Given the description of an element on the screen output the (x, y) to click on. 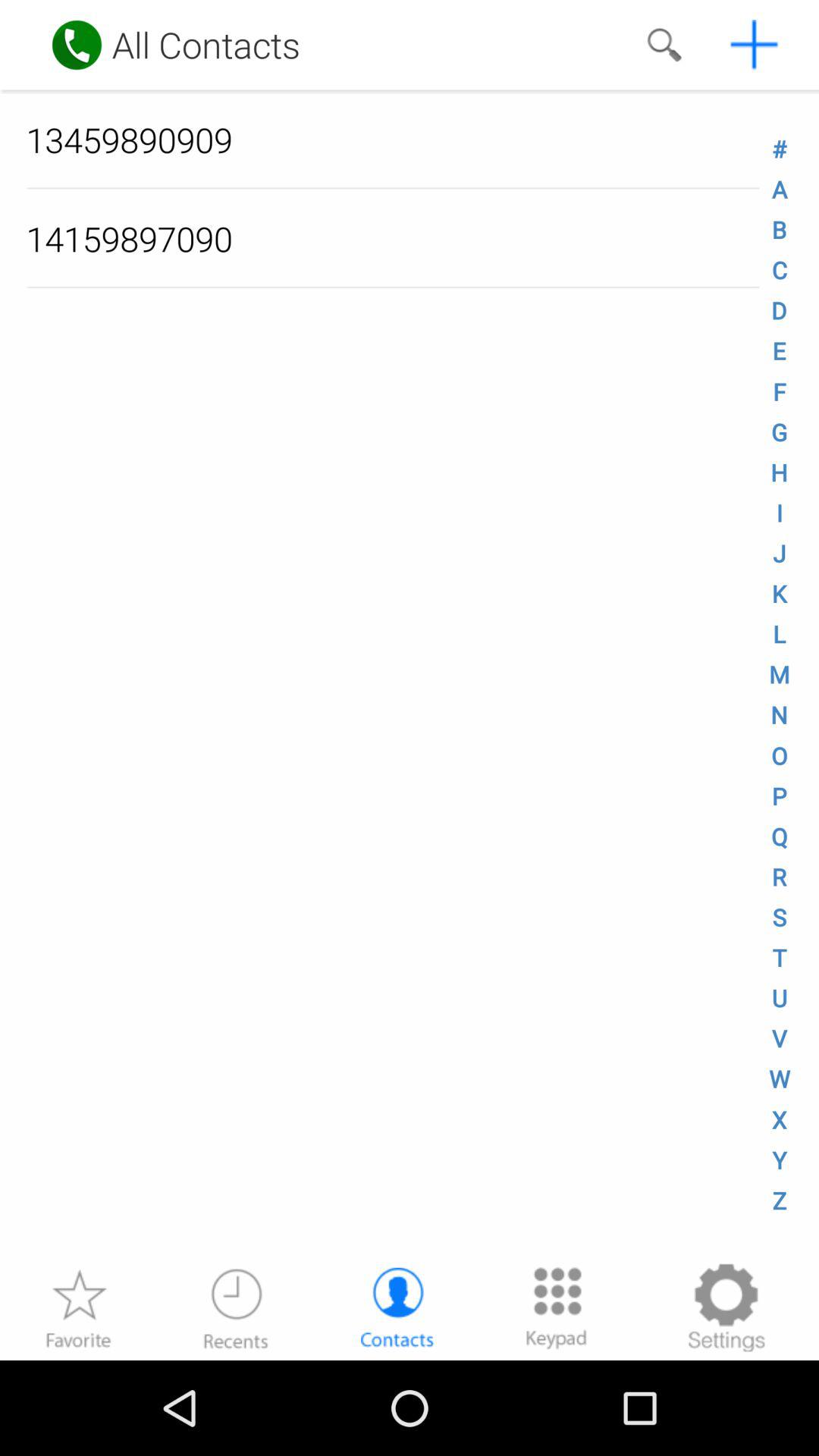
open settings (725, 1307)
